Given the description of an element on the screen output the (x, y) to click on. 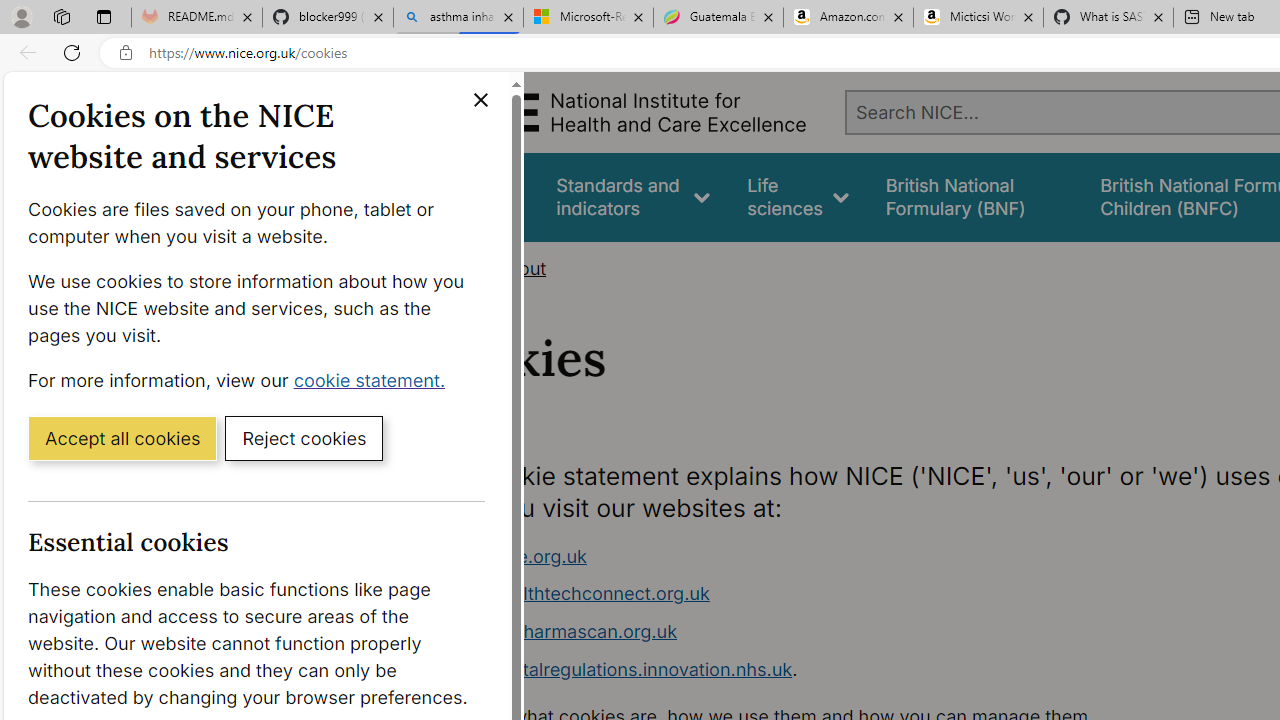
www.nice.org.uk (818, 556)
false (974, 196)
www.nice.org.uk (514, 556)
Reject cookies (304, 437)
www.ukpharmascan.org.uk (818, 632)
asthma inhaler - Search (458, 17)
cookie statement. (Opens in a new window) (373, 379)
